Given the description of an element on the screen output the (x, y) to click on. 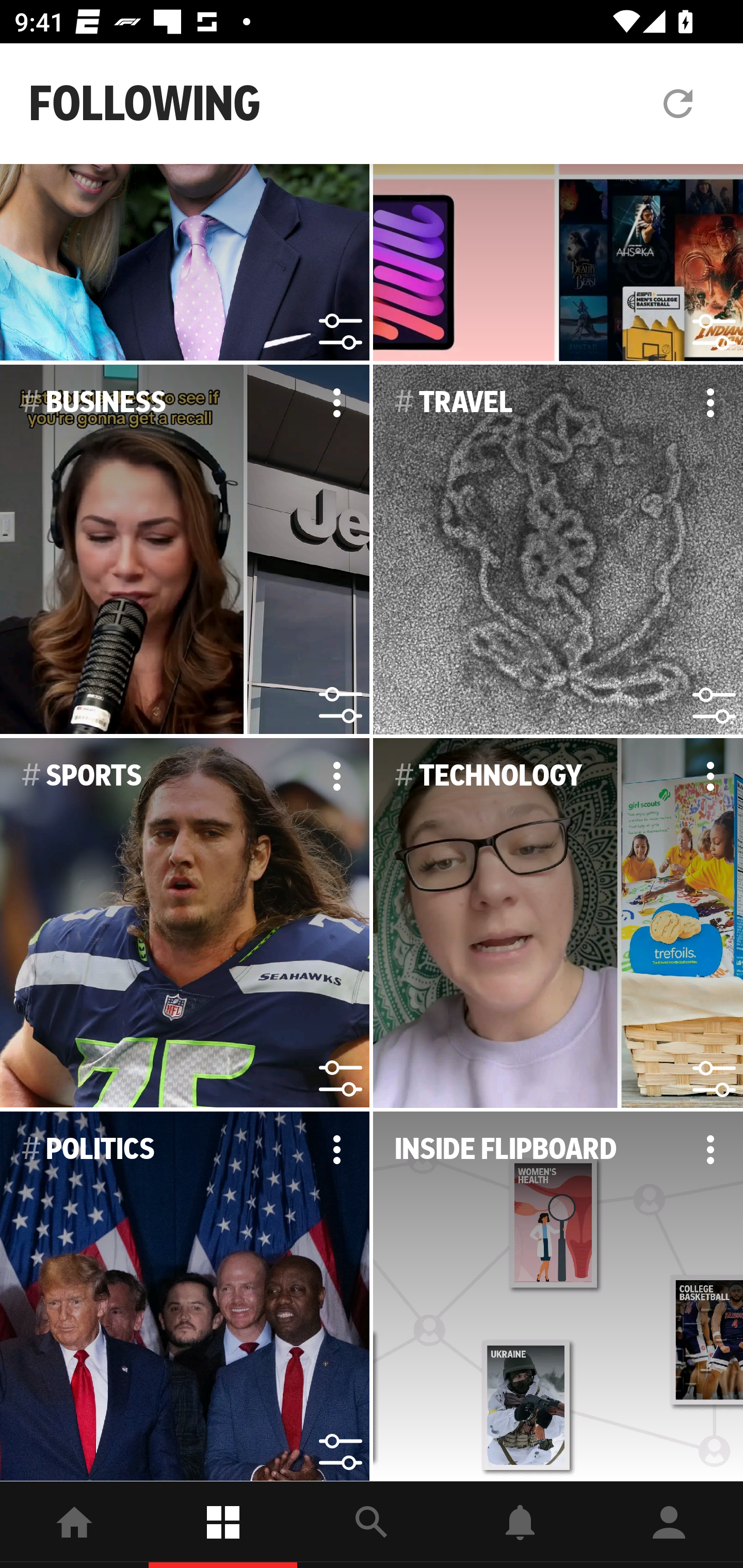
# BUSINESS Options (184, 549)
Options (336, 402)
# TRAVEL Options (557, 549)
Options (710, 402)
# SPORTS Options (184, 923)
Options (336, 775)
# TECHNOLOGY Options (557, 923)
Options (710, 775)
# POLITICS Options (184, 1296)
Options (336, 1148)
INSIDE FLIPBOARD Options (557, 1296)
Options (710, 1148)
home (74, 1524)
Following (222, 1524)
explore (371, 1524)
Notifications (519, 1524)
Profile (668, 1524)
